Given the description of an element on the screen output the (x, y) to click on. 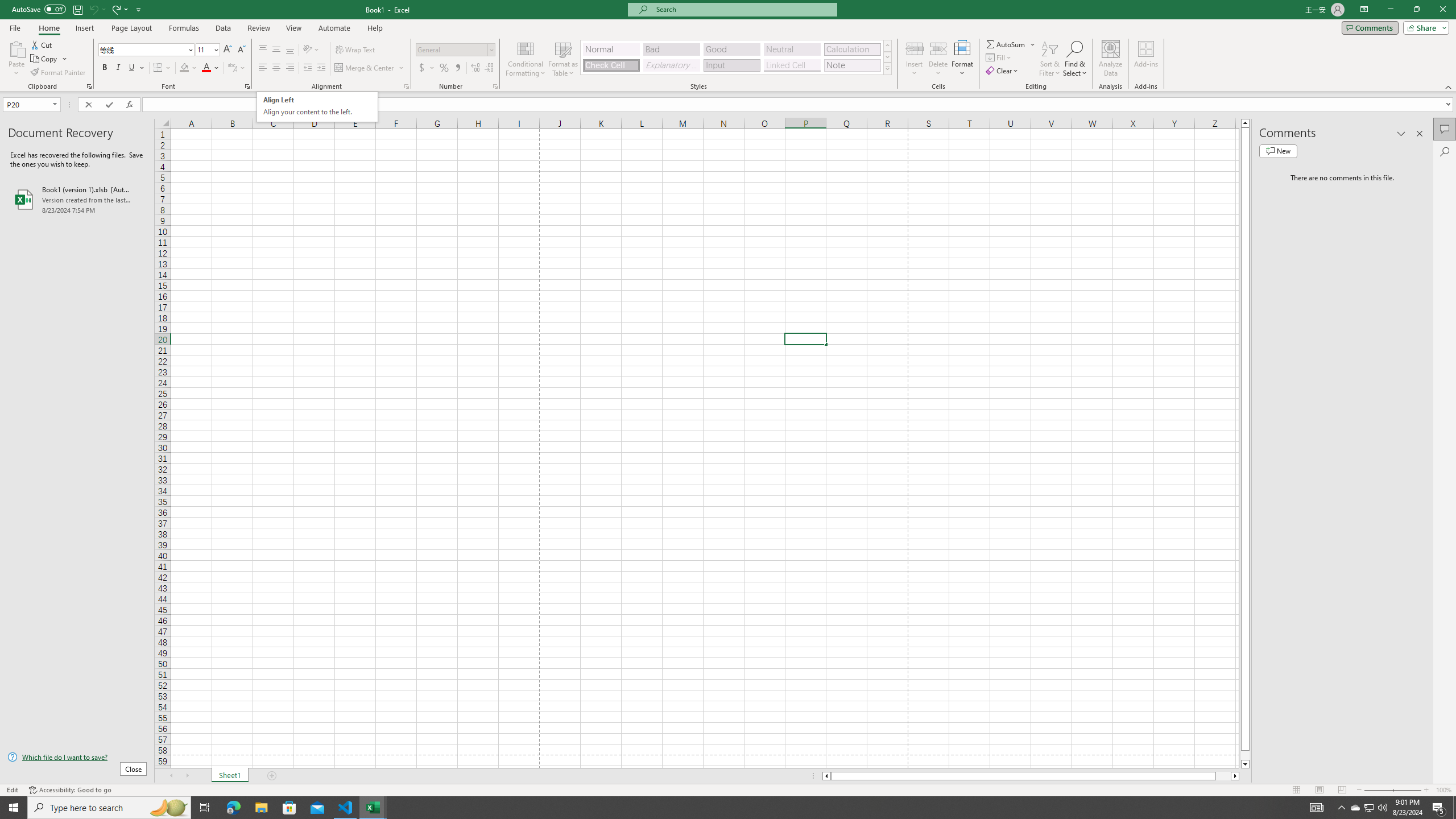
Borders (162, 67)
Search (1444, 151)
Merge & Center (369, 67)
Linked Cell (317, 106)
Office Clipboard... (791, 65)
Paste (88, 85)
Clear (16, 48)
Font (1003, 69)
